Given the description of an element on the screen output the (x, y) to click on. 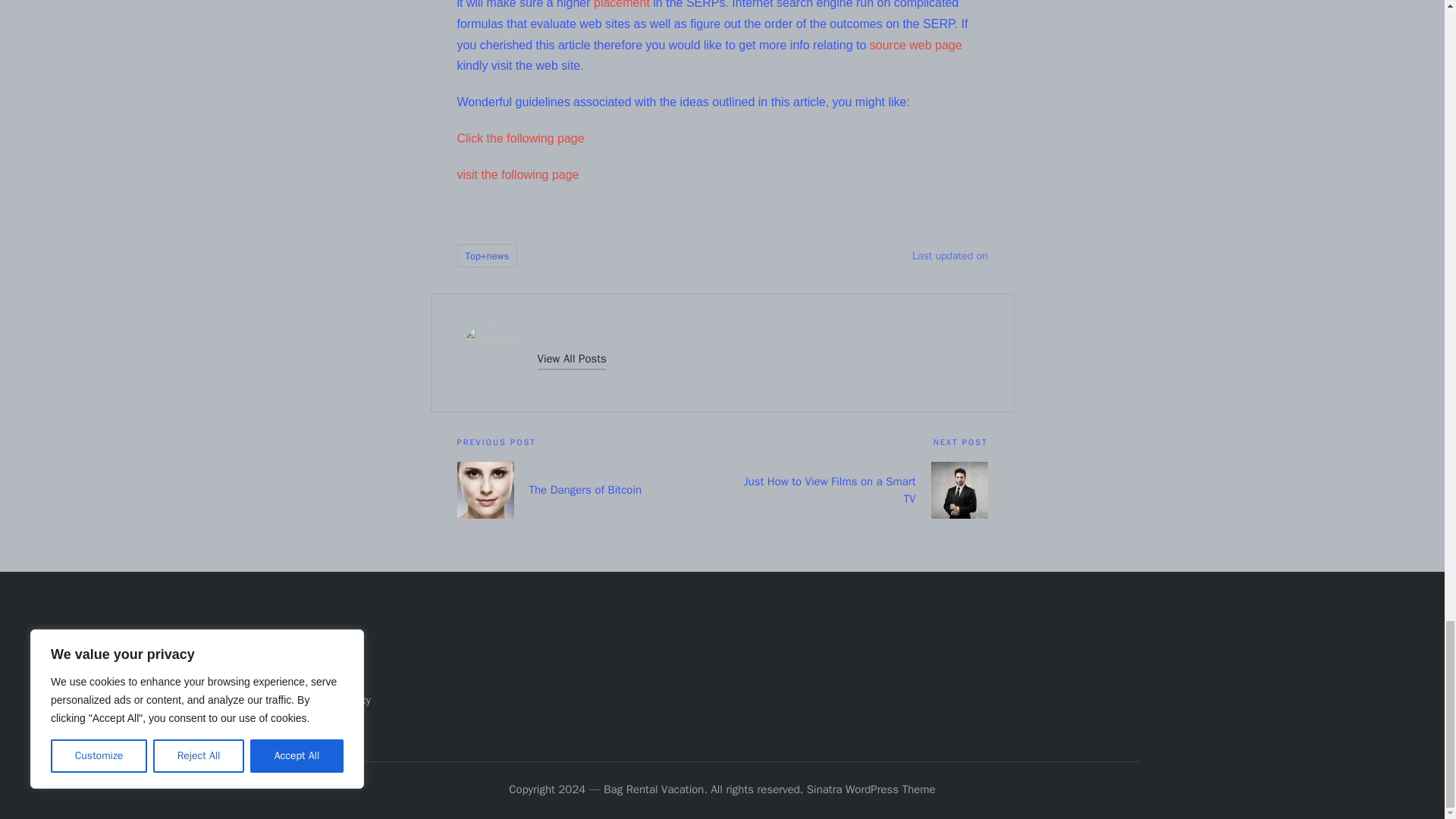
Sinatra WordPress Theme (871, 790)
visit the following page (517, 174)
About (318, 650)
Contact (323, 674)
The Dangers of Bitcoin (589, 489)
View All Posts (571, 358)
Privacy Policy (337, 699)
placement (621, 4)
Click the following page (520, 137)
source web page (915, 44)
Just How to View Films on a Smart TV (854, 489)
